Given the description of an element on the screen output the (x, y) to click on. 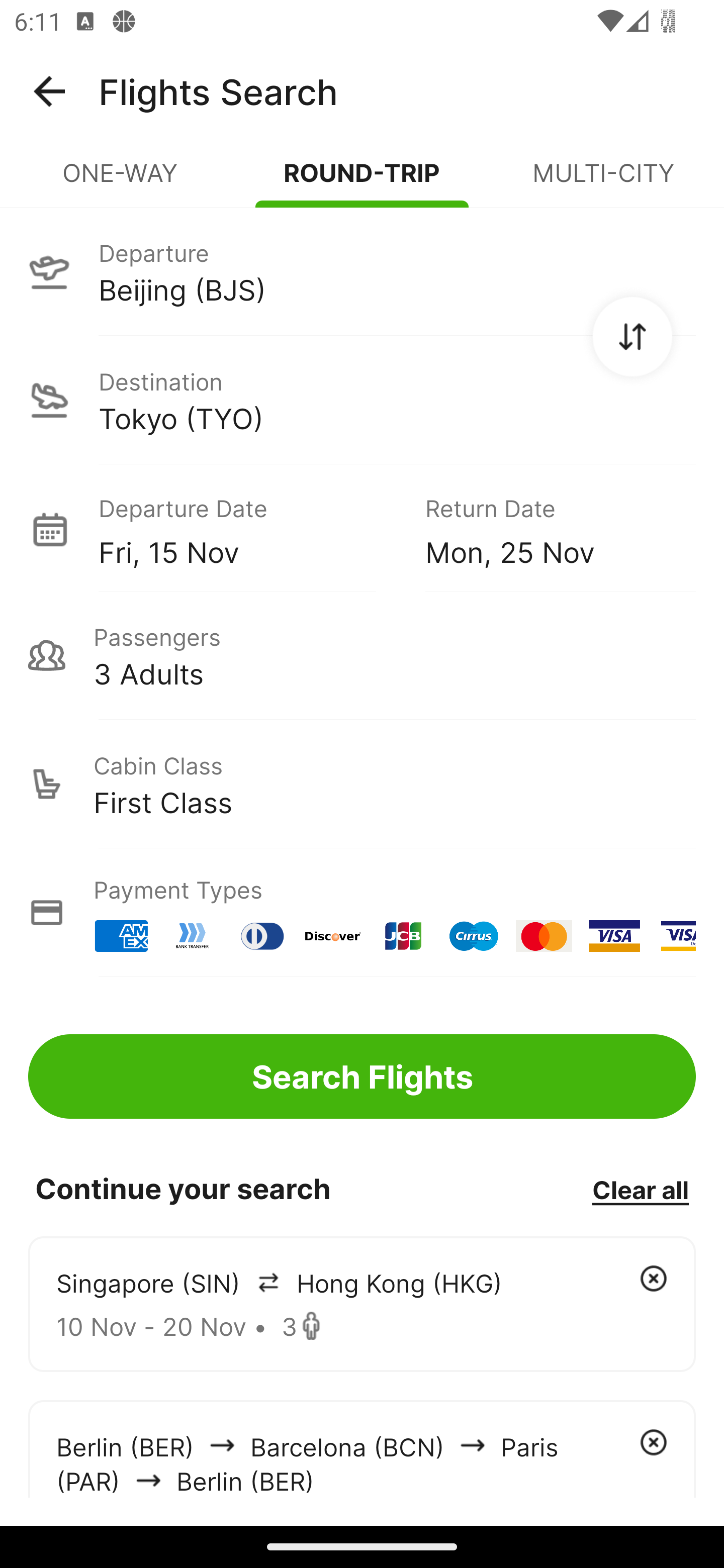
ONE-WAY (120, 180)
ROUND-TRIP (361, 180)
MULTI-CITY (603, 180)
Departure Beijing (BJS) (362, 270)
Destination Tokyo (TYO) (362, 400)
Departure Date Fri, 15 Nov (247, 528)
Return Date Mon, 25 Nov (546, 528)
Passengers 3 Adults (362, 655)
Cabin Class First Class (362, 783)
Payment Types (362, 912)
Search Flights (361, 1075)
Clear all (640, 1189)
